Given the description of an element on the screen output the (x, y) to click on. 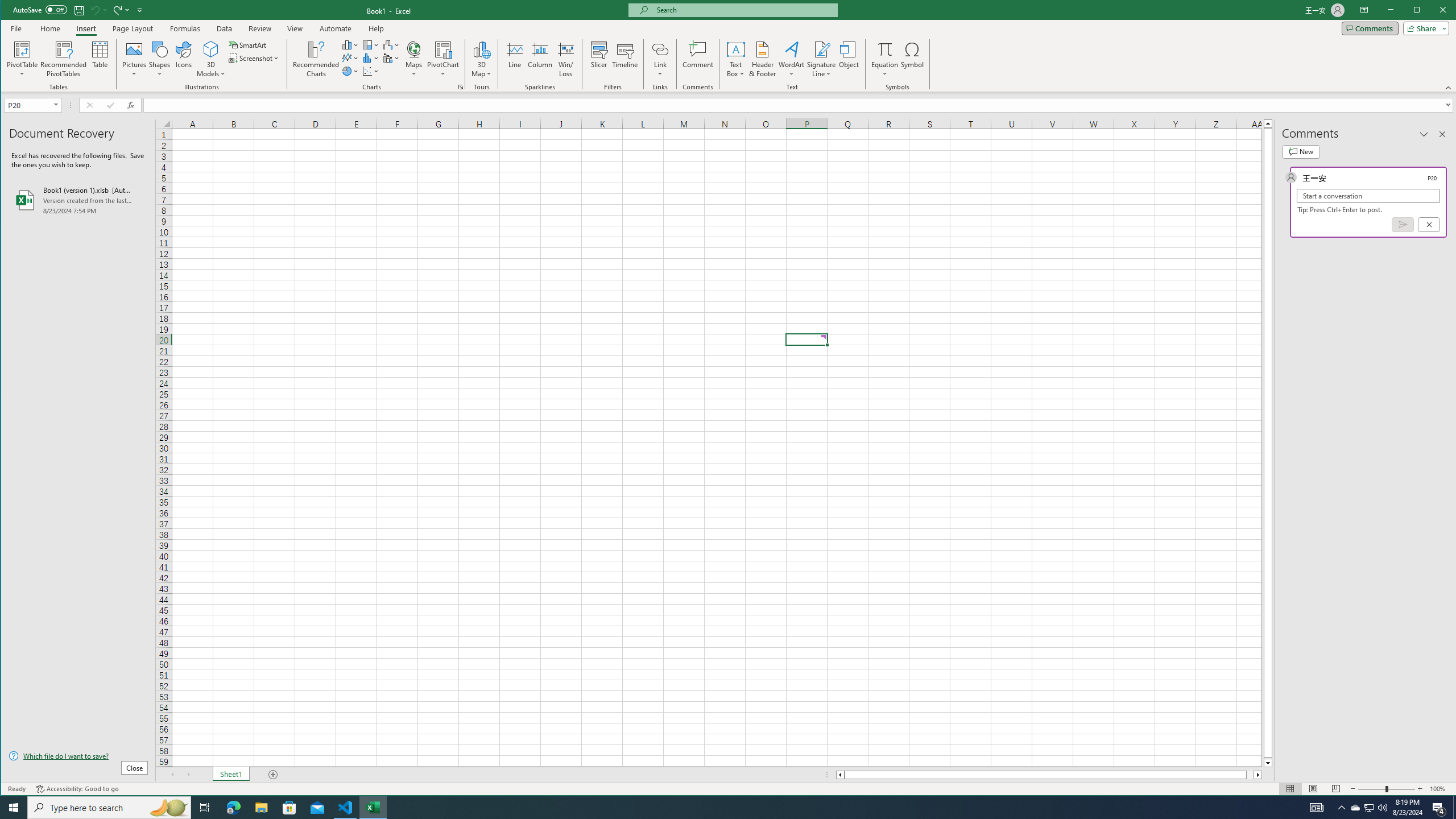
Win/Loss (1368, 807)
System (565, 59)
Close (11, 10)
Search highlights icon opens search home window (1445, 11)
Maps (167, 807)
AutoSave (413, 59)
Home (39, 9)
Close pane (50, 28)
Draw Horizontal Text Box (1441, 133)
Notification Chevron (735, 48)
Insert Waterfall, Funnel, Stock, Surface, or Radar Chart (1341, 807)
3D Models (391, 44)
Recommended PivotTables (211, 48)
